Given the description of an element on the screen output the (x, y) to click on. 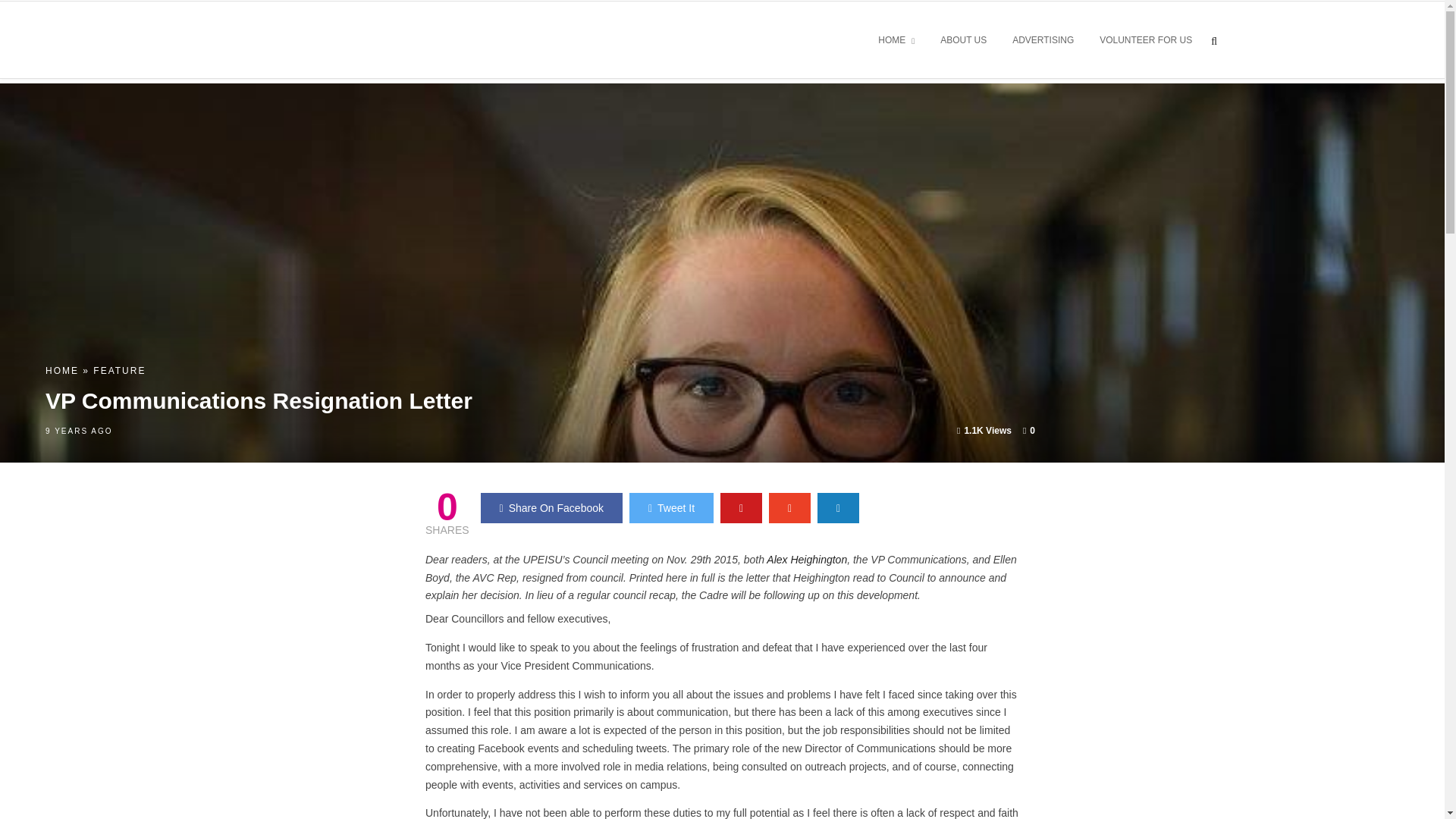
VOLUNTEER FOR US (1145, 40)
Tweet It (670, 508)
HOME (896, 40)
Share by Email (837, 508)
Alex Heighington (807, 559)
Share On Facebook (551, 508)
Share On Twitter (670, 508)
Share On Pinterest (740, 508)
ABOUT US (962, 40)
0 (1029, 430)
ADVERTISING (1042, 40)
FEATURE (119, 370)
Share On Facebook (551, 508)
HOME (61, 370)
